Given the description of an element on the screen output the (x, y) to click on. 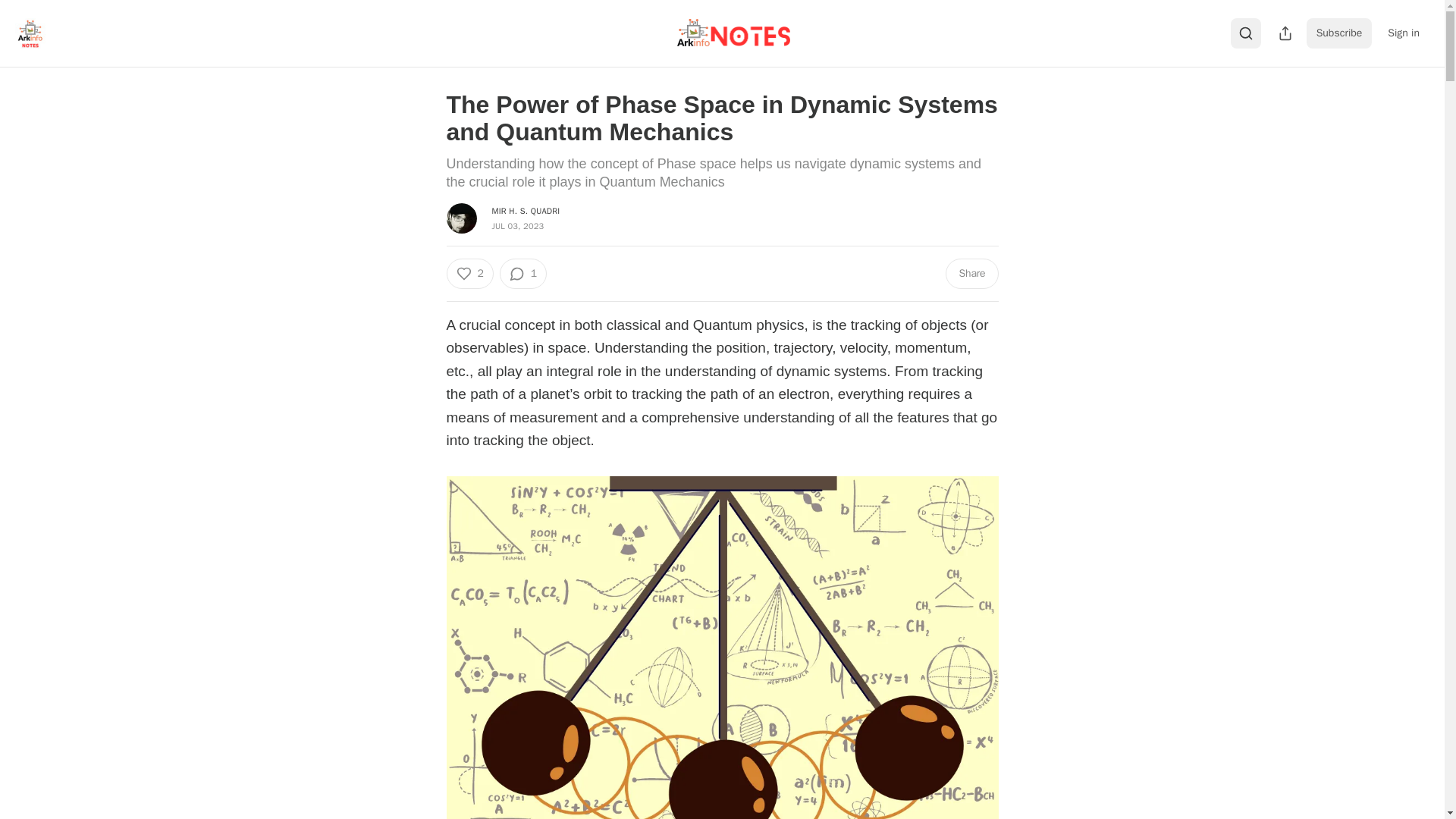
Sign in (1403, 33)
MIR H. S. QUADRI (525, 210)
Share (970, 273)
2 (469, 273)
Subscribe (1339, 33)
1 (523, 273)
